Given the description of an element on the screen output the (x, y) to click on. 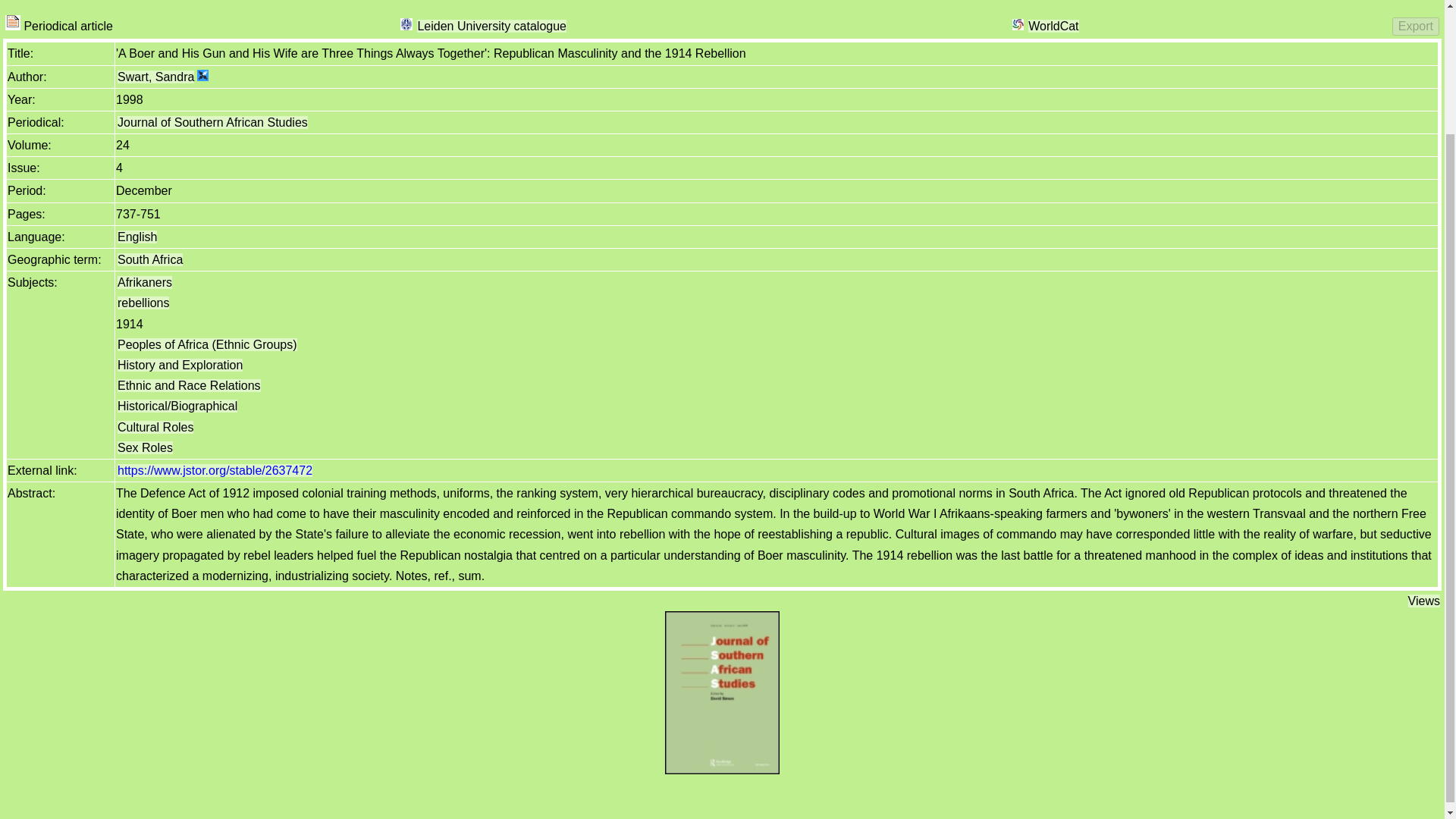
Cultural Roles (155, 427)
rebellions (142, 302)
History and Exploration (180, 364)
WorldCat catalogue (1017, 24)
Leiden University catalogue (406, 24)
Ethnic and Race Relations (188, 385)
Leiden University catalogue (491, 25)
Sex Roles (145, 447)
WorldCat (1052, 25)
Afrikaners (144, 282)
